Given the description of an element on the screen output the (x, y) to click on. 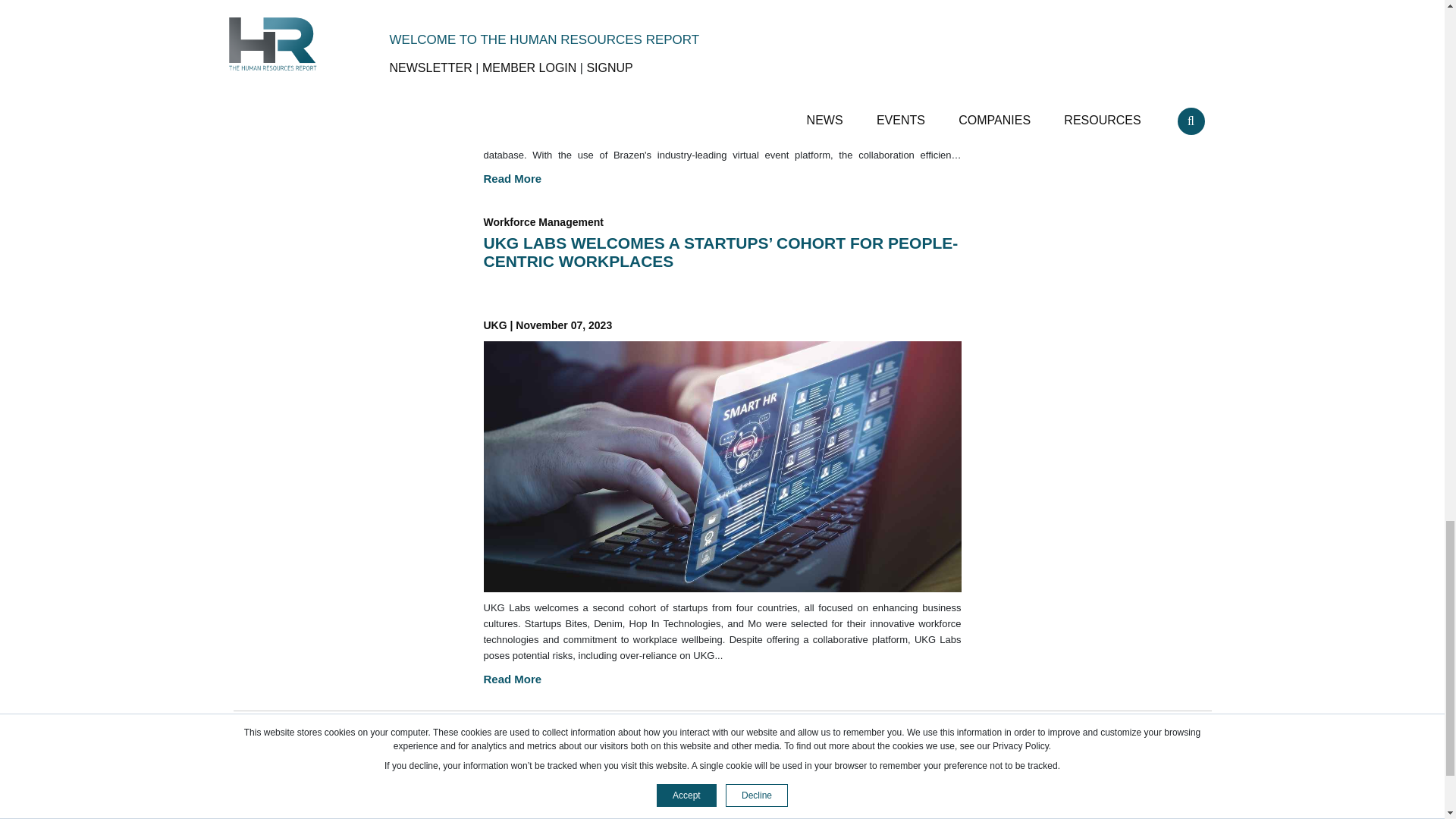
Newsletter Signup (638, 798)
